Given the description of an element on the screen output the (x, y) to click on. 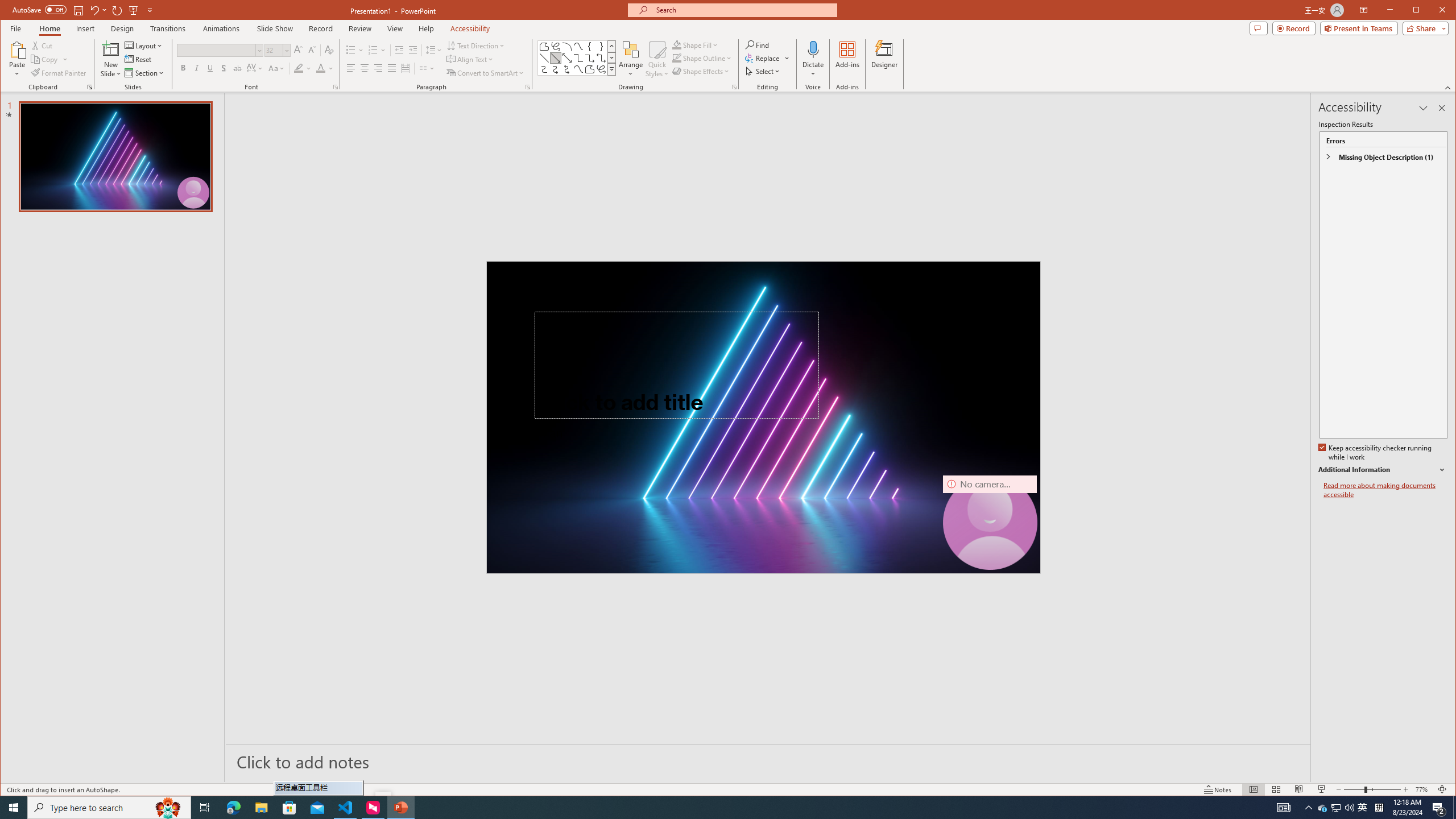
Connector: Curved Arrow (556, 69)
